Given the description of an element on the screen output the (x, y) to click on. 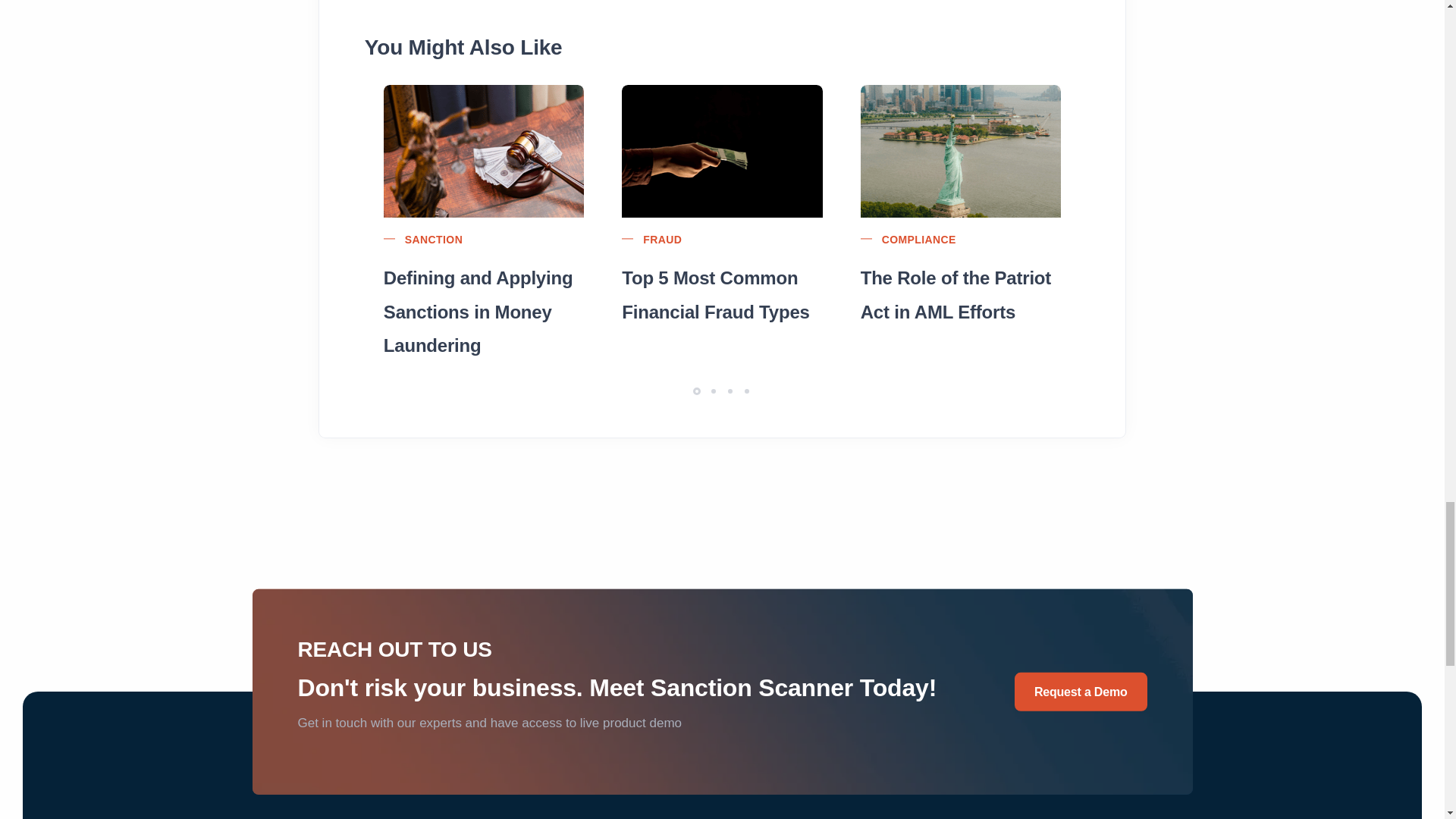
The Role of the Patriot Act in AML Efforts (960, 293)
Defining and Applying Sanctions in Money Laundering (483, 310)
Top 5 Most Common Financial Fraud Types (721, 293)
